Given the description of an element on the screen output the (x, y) to click on. 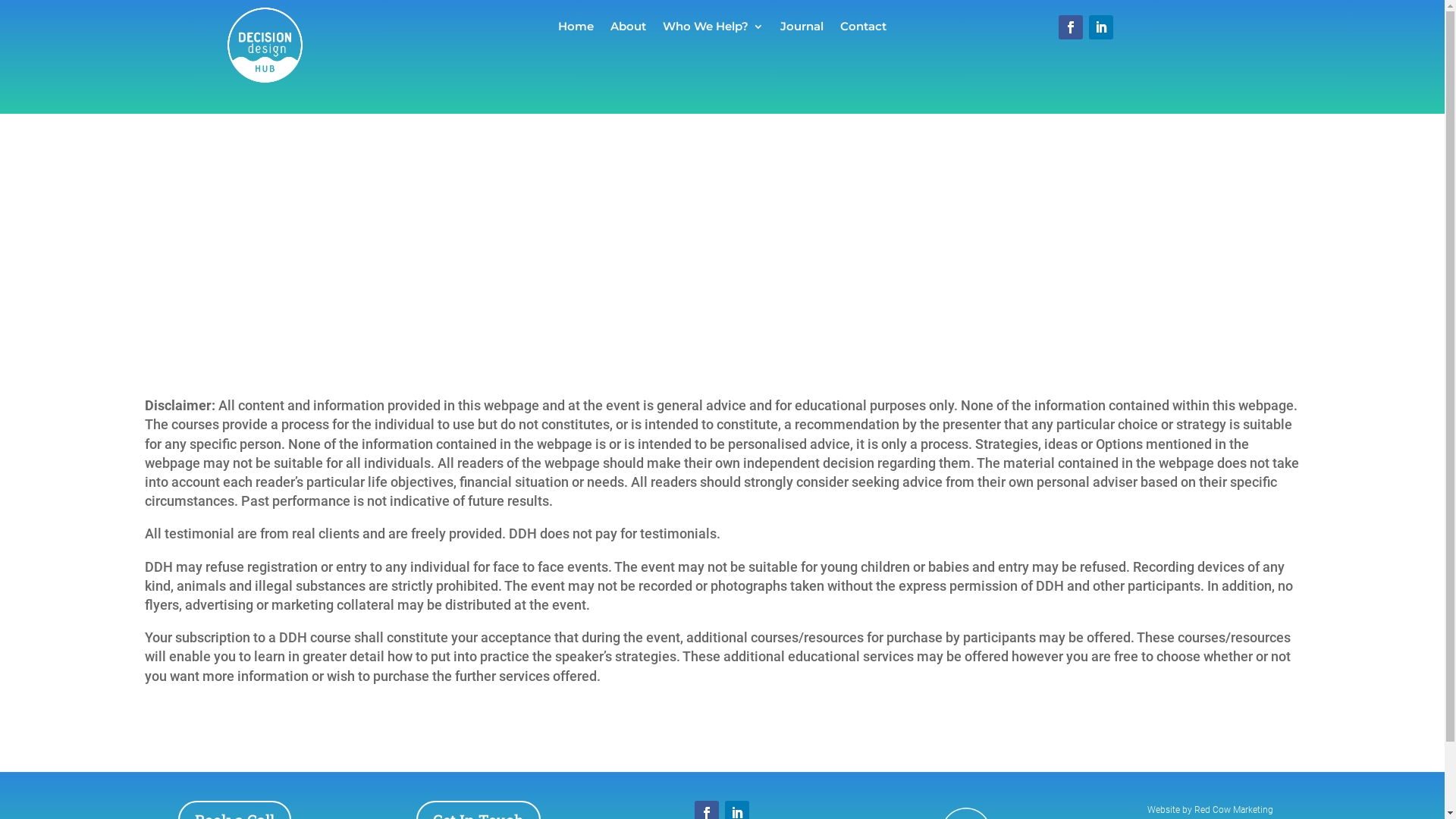
About Element type: text (628, 29)
Who We Help? Element type: text (712, 29)
Follow on Facebook Element type: hover (1070, 27)
Journal Element type: text (801, 29)
Contact Element type: text (863, 29)
Follow on LinkedIn Element type: hover (1100, 27)
Home Element type: text (575, 29)
